Given the description of an element on the screen output the (x, y) to click on. 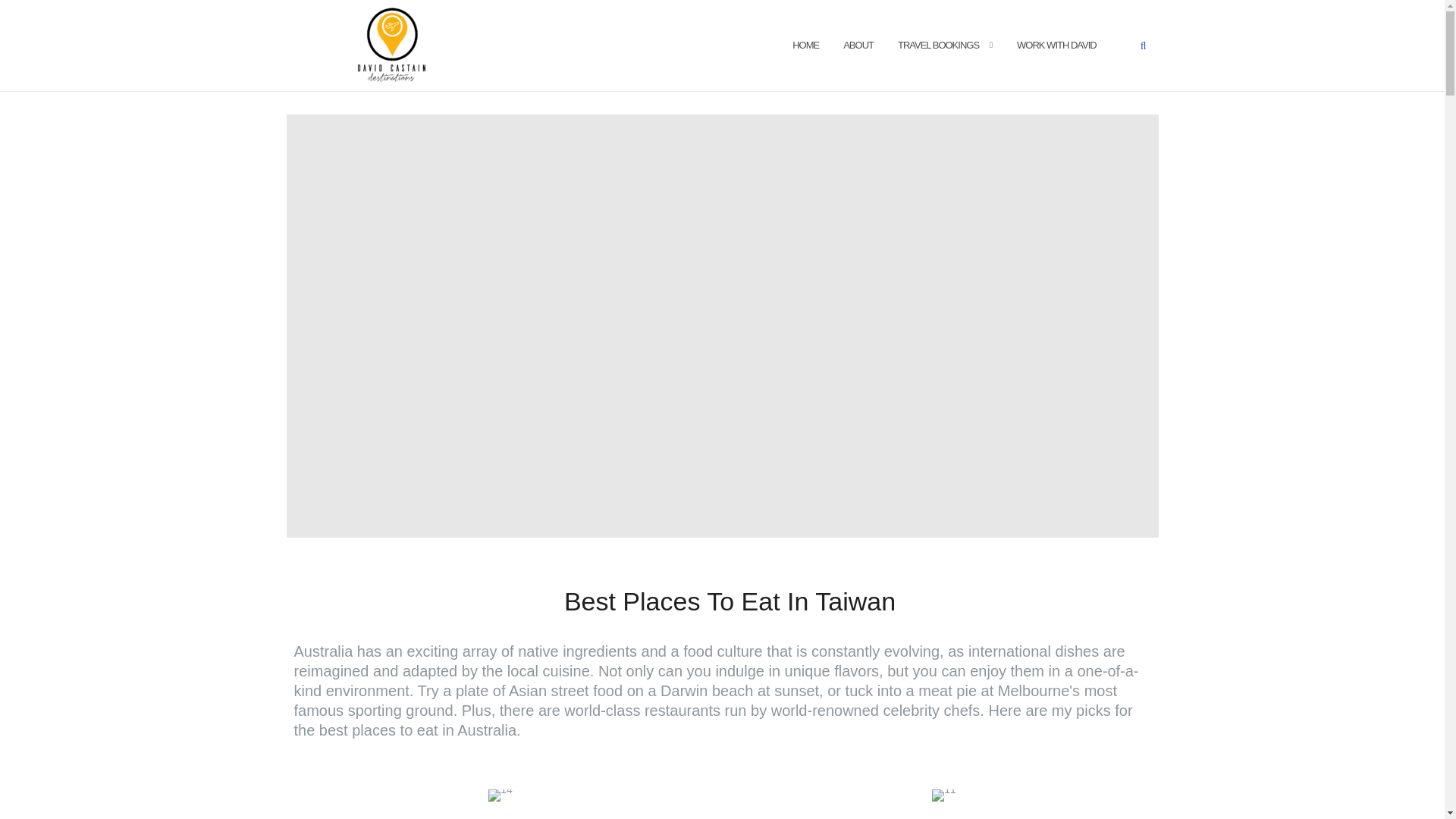
WORK WITH DAVID (1056, 45)
Travel Bookings (938, 45)
14 (499, 795)
Work With David (1056, 45)
TRAVEL BOOKINGS (938, 45)
11 (943, 795)
